Given the description of an element on the screen output the (x, y) to click on. 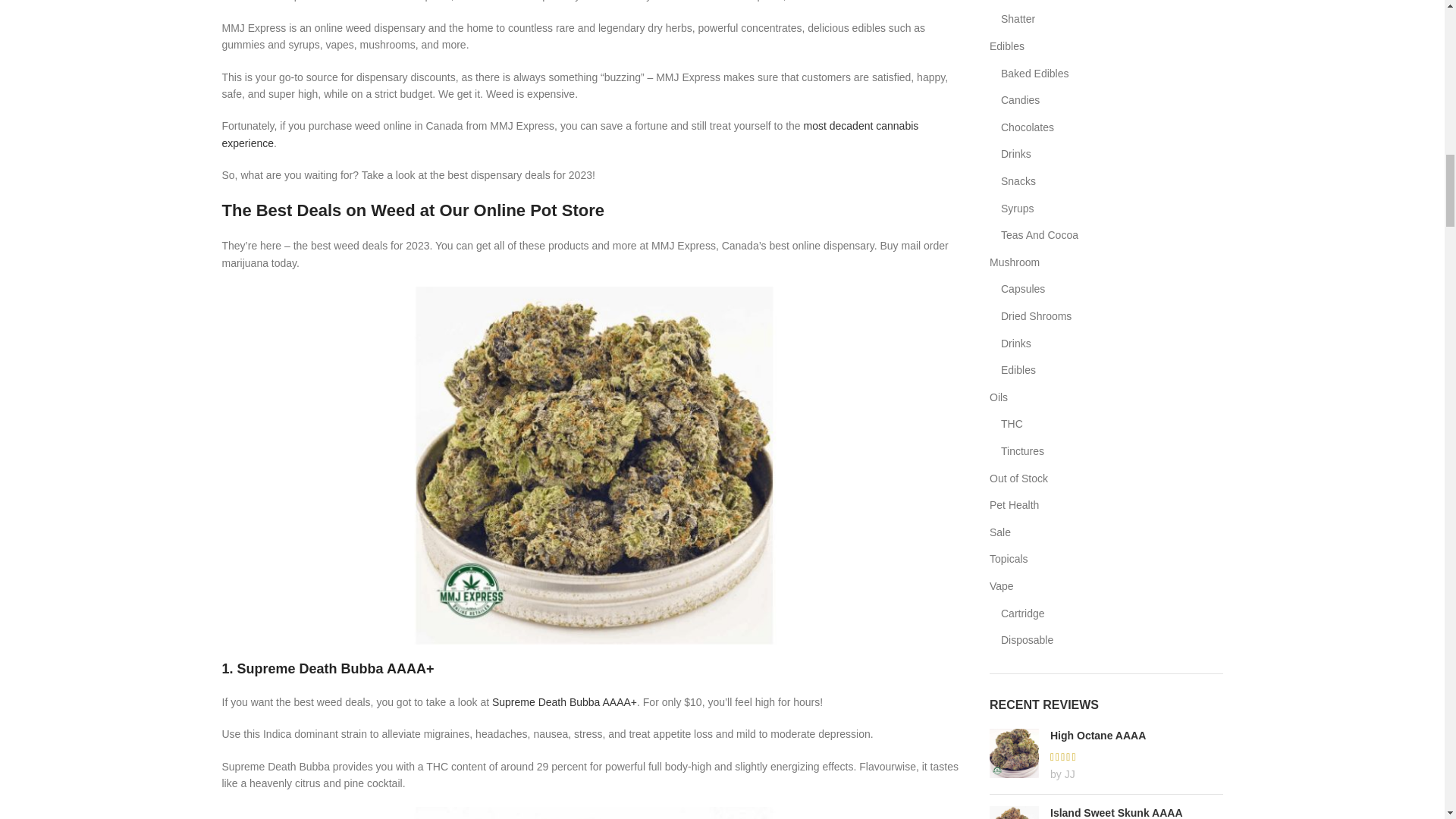
Gas Mask AAAA (593, 812)
